Given the description of an element on the screen output the (x, y) to click on. 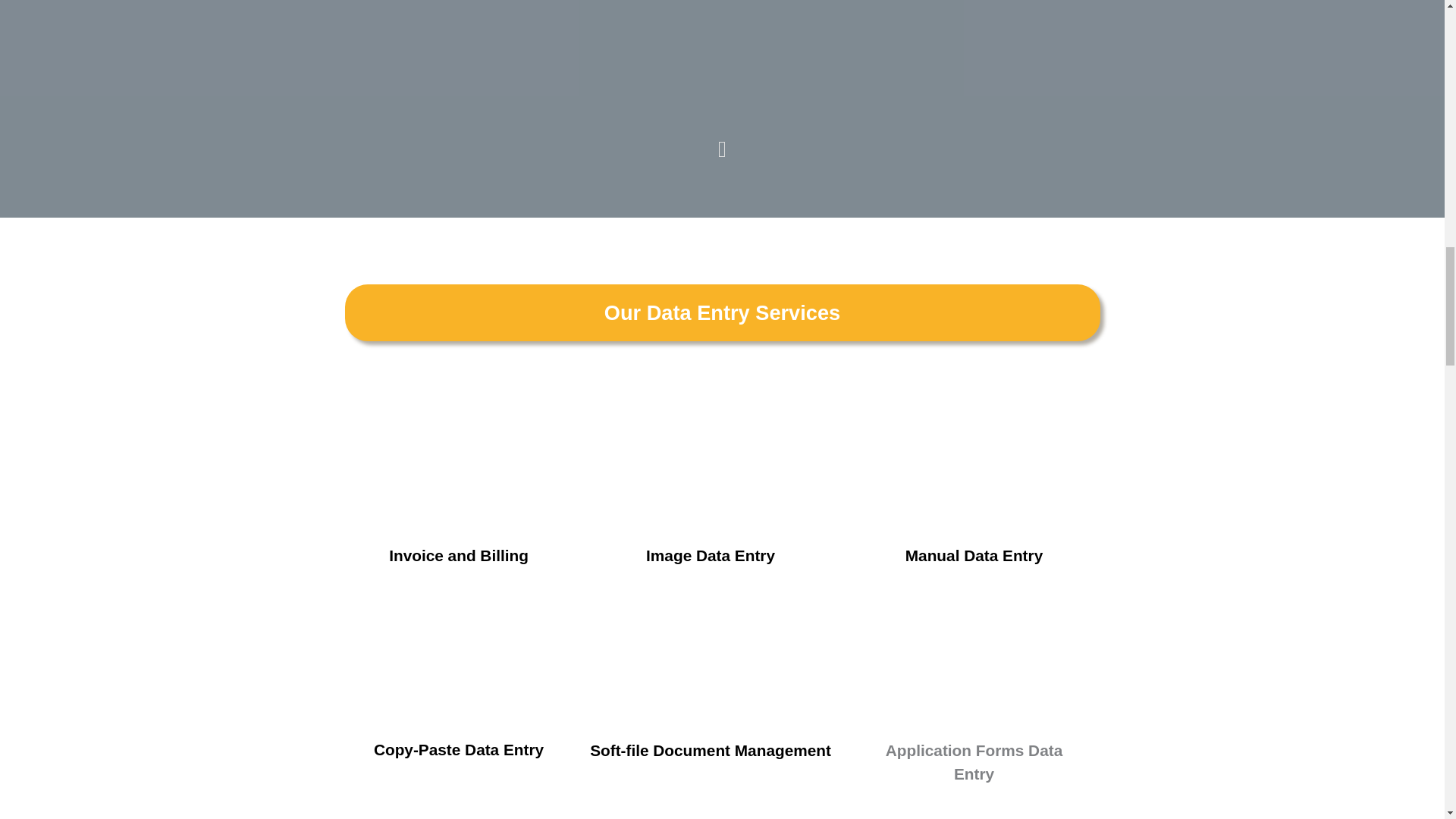
soft-file (710, 652)
copy-paste (458, 652)
Invoice (458, 457)
application form (973, 652)
Manual (973, 457)
Image (710, 457)
